Given the description of an element on the screen output the (x, y) to click on. 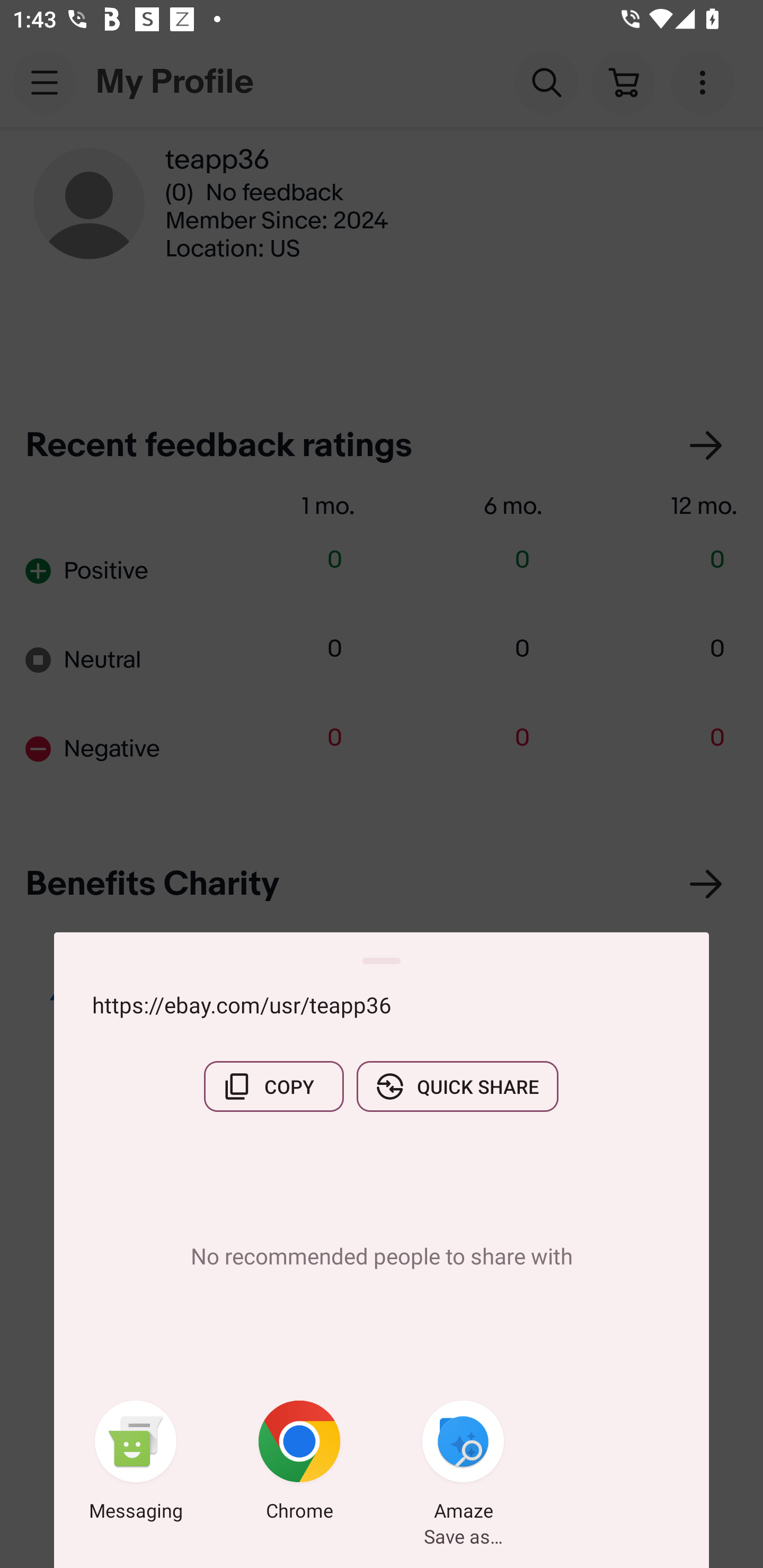
COPY (273, 1086)
QUICK SHARE (457, 1086)
Messaging (135, 1463)
Chrome (299, 1463)
Amaze Save as… (463, 1463)
